Given the description of an element on the screen output the (x, y) to click on. 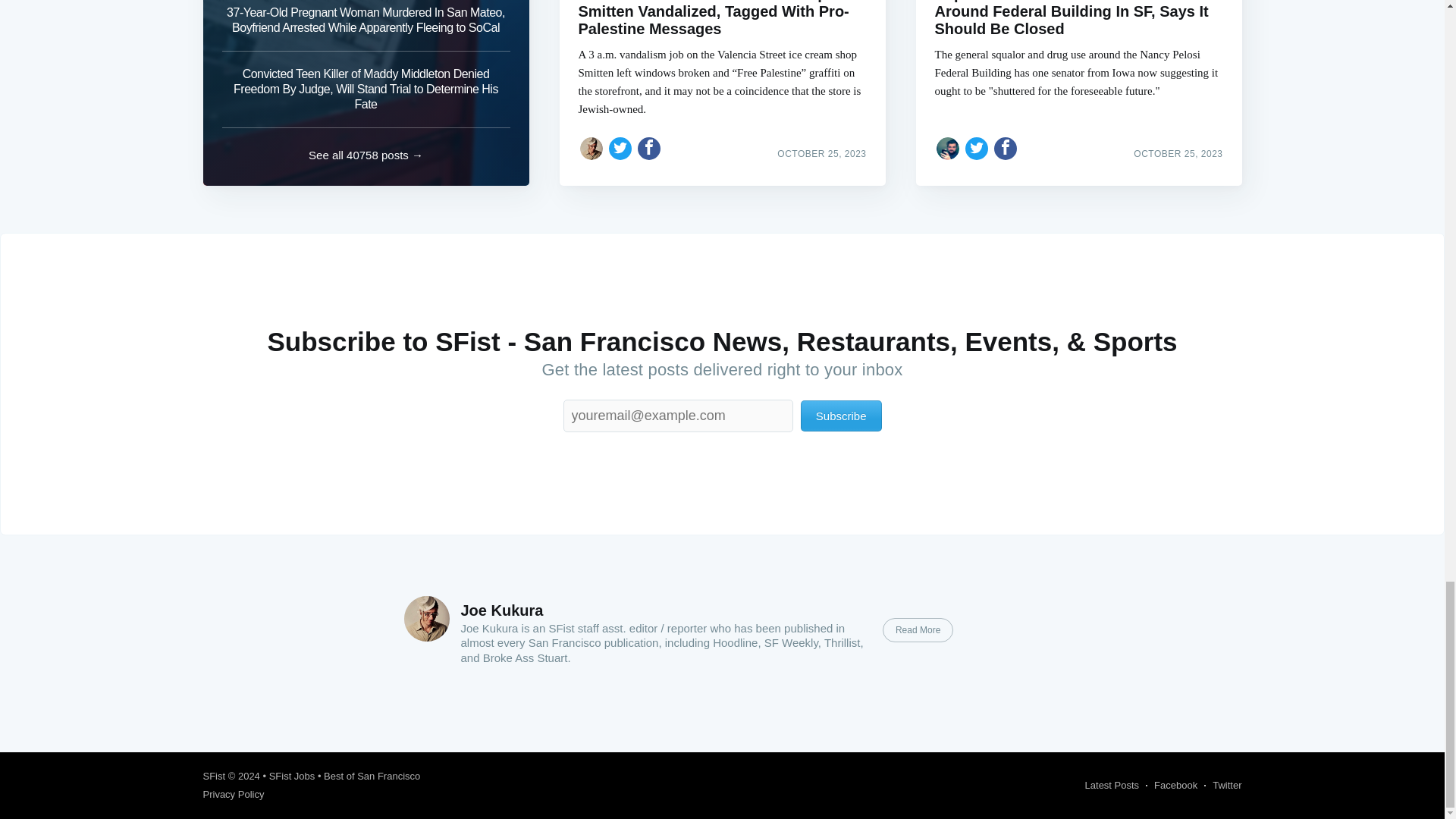
Share on Twitter (620, 148)
Share on Facebook (1004, 148)
Share on Twitter (976, 148)
Share on Facebook (649, 148)
